Given the description of an element on the screen output the (x, y) to click on. 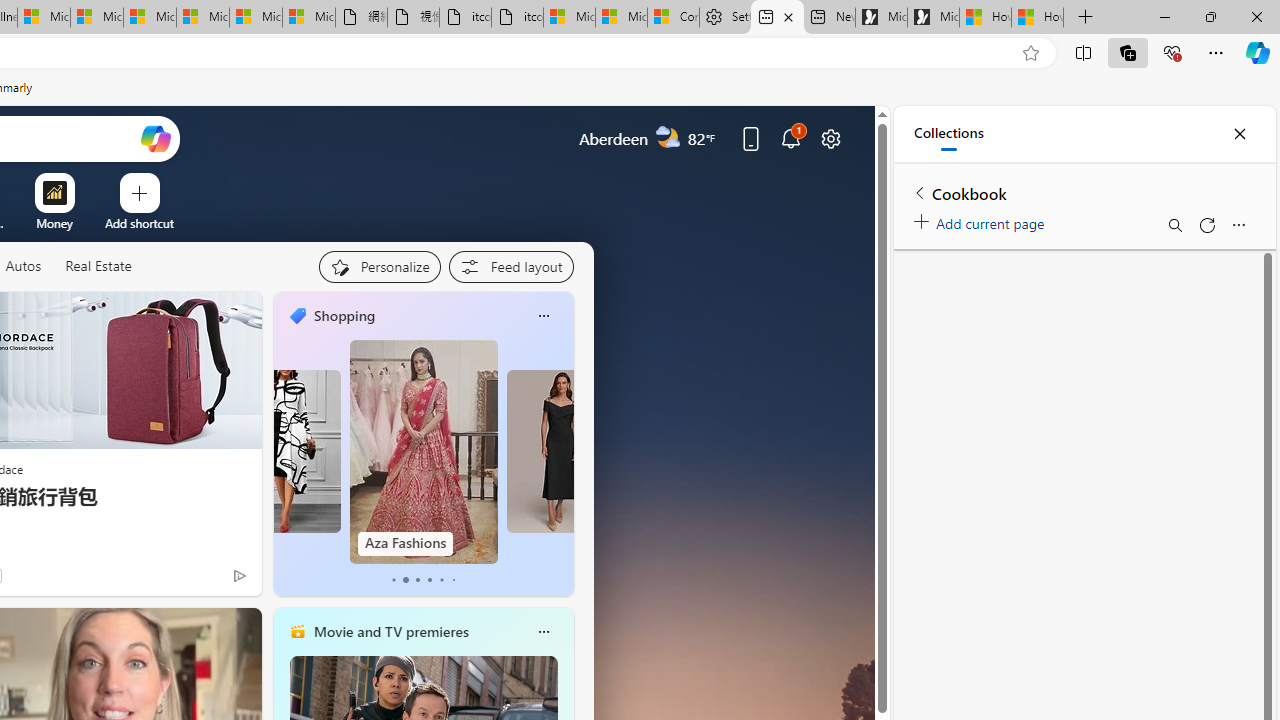
Autos (22, 265)
Personalize your feed" (379, 266)
Movie and TV premieres (390, 631)
itconcepthk.com/projector_solutions.mp4 (516, 17)
tab-0 (392, 579)
How to Use a TV as a Computer Monitor (1037, 17)
